Given the description of an element on the screen output the (x, y) to click on. 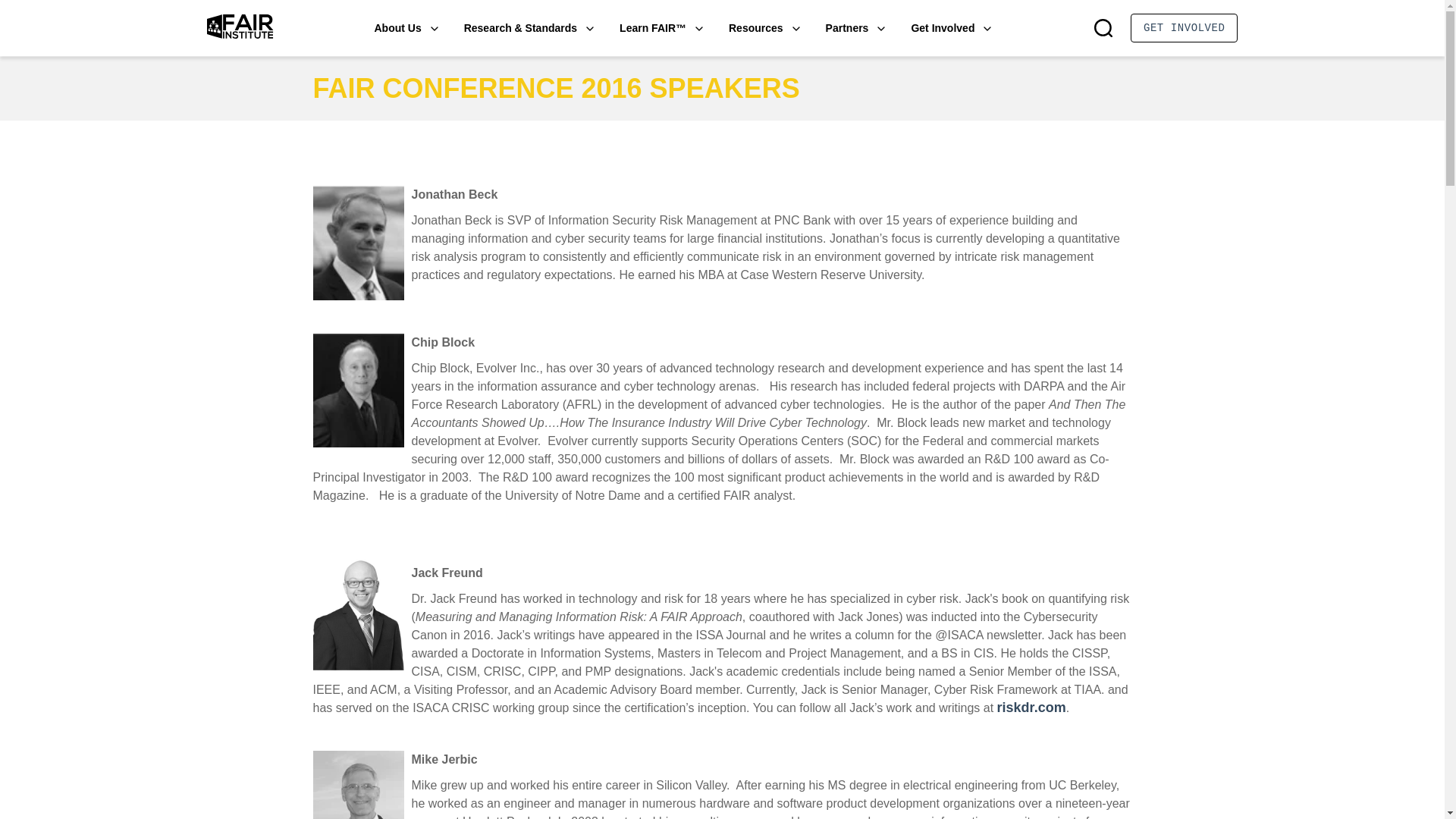
About Us (406, 27)
Get Involved (951, 27)
Resources (765, 27)
Partners (855, 27)
